Given the description of an element on the screen output the (x, y) to click on. 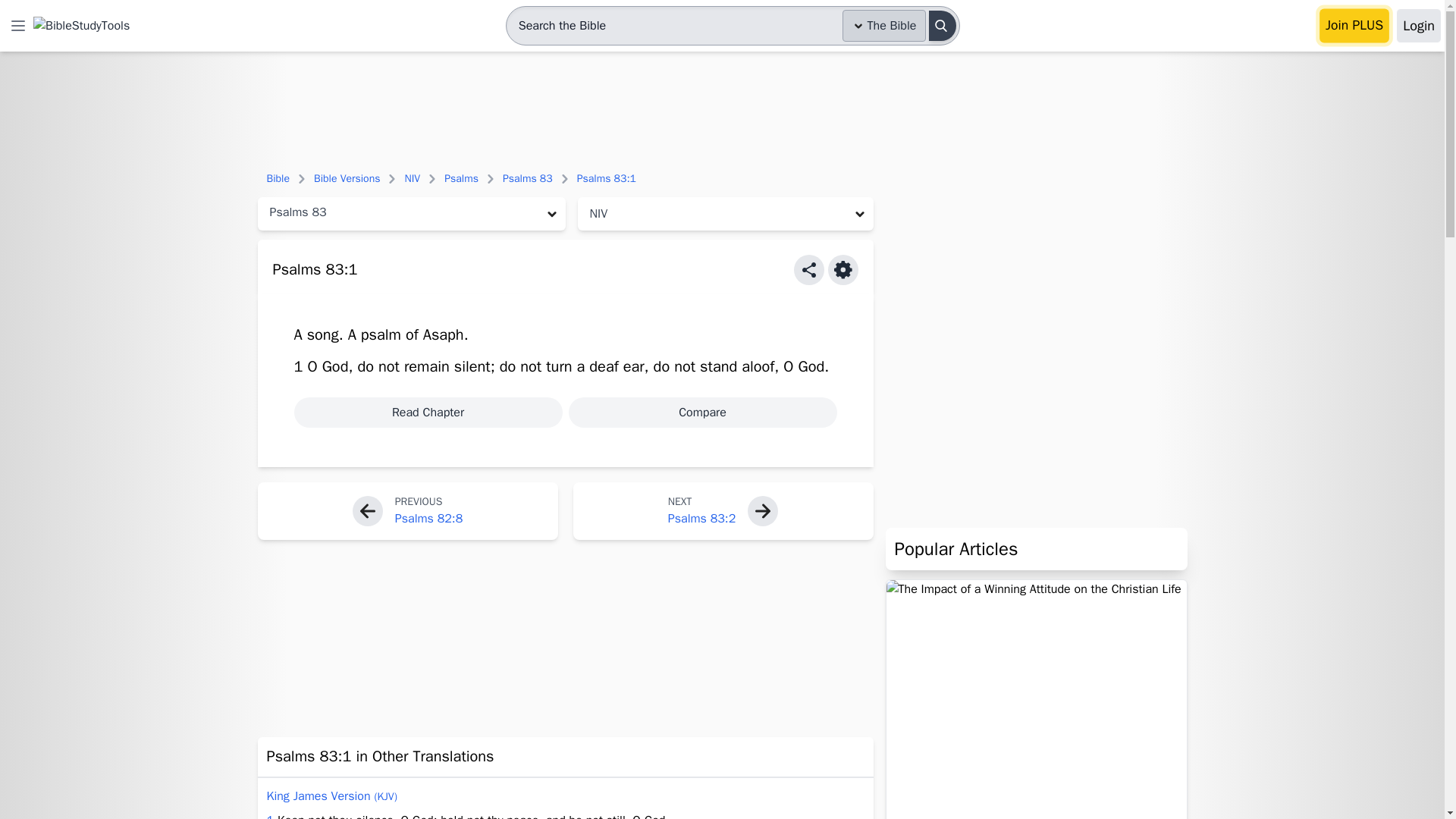
Login (1418, 25)
The Bible (884, 25)
Join PLUS (1354, 25)
Scripture Settings (843, 269)
